Given the description of an element on the screen output the (x, y) to click on. 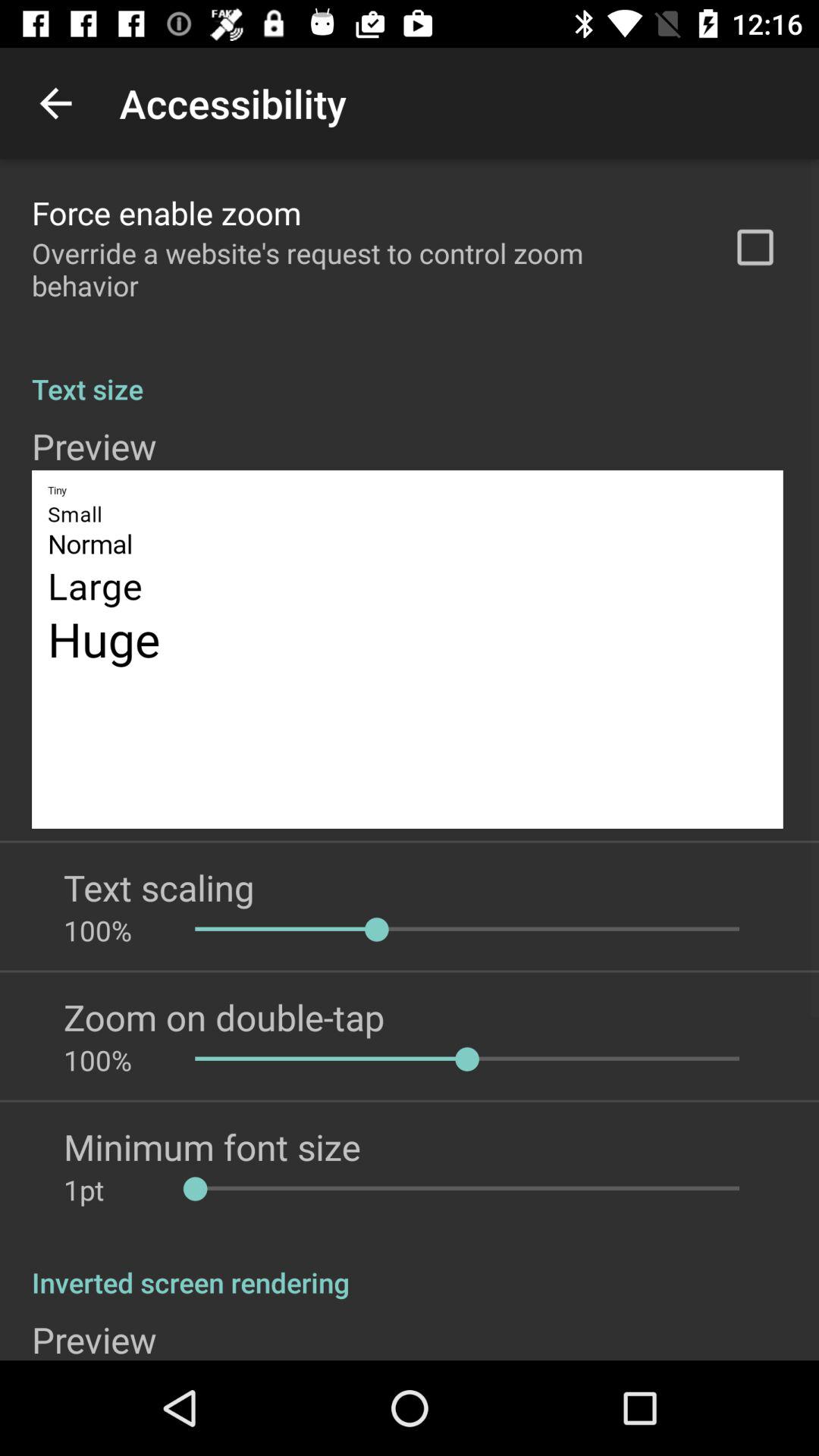
open app above the preview app (409, 1266)
